Given the description of an element on the screen output the (x, y) to click on. 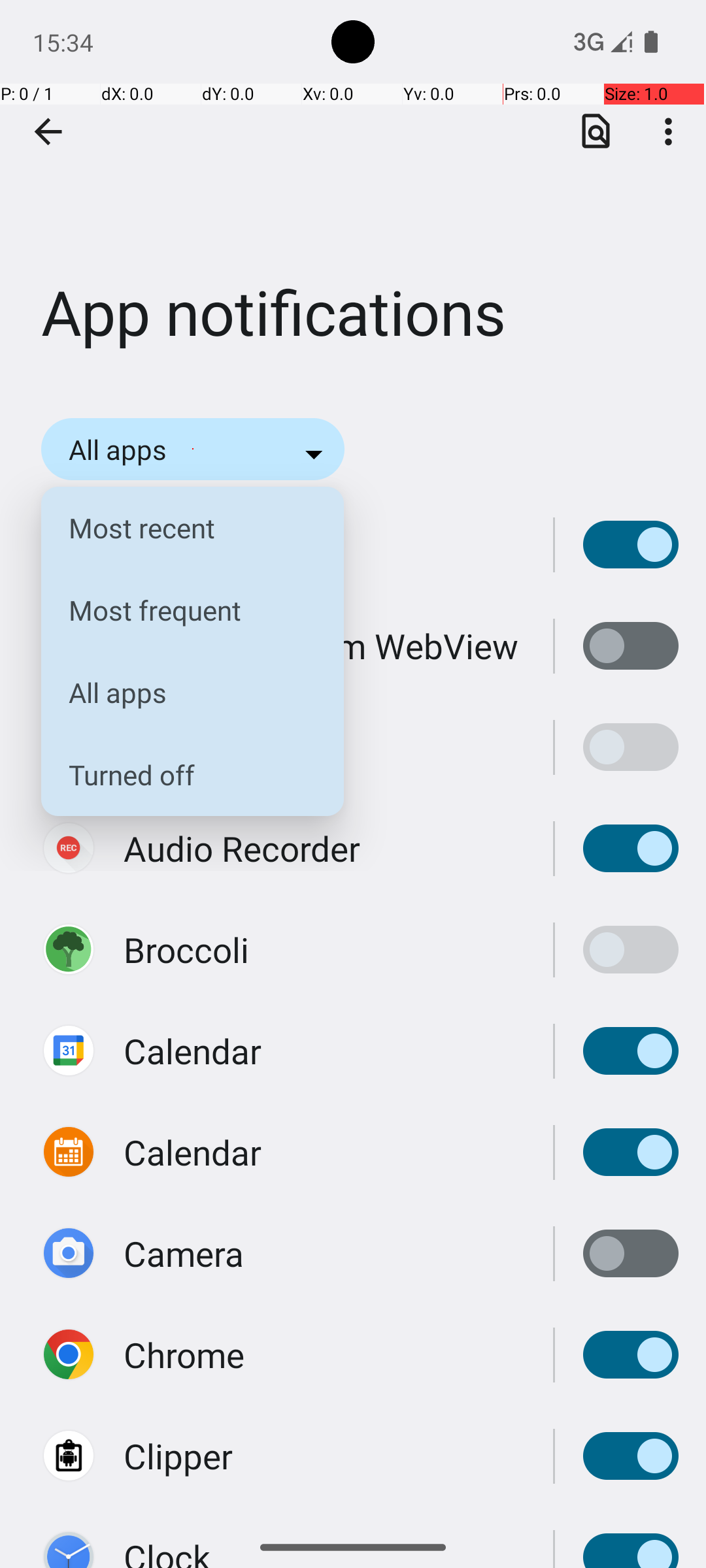
Most frequent Element type: android.widget.TextView (182, 610)
All apps Element type: android.widget.TextView (182, 692)
Turned off Element type: android.widget.TextView (182, 774)
